Given the description of an element on the screen output the (x, y) to click on. 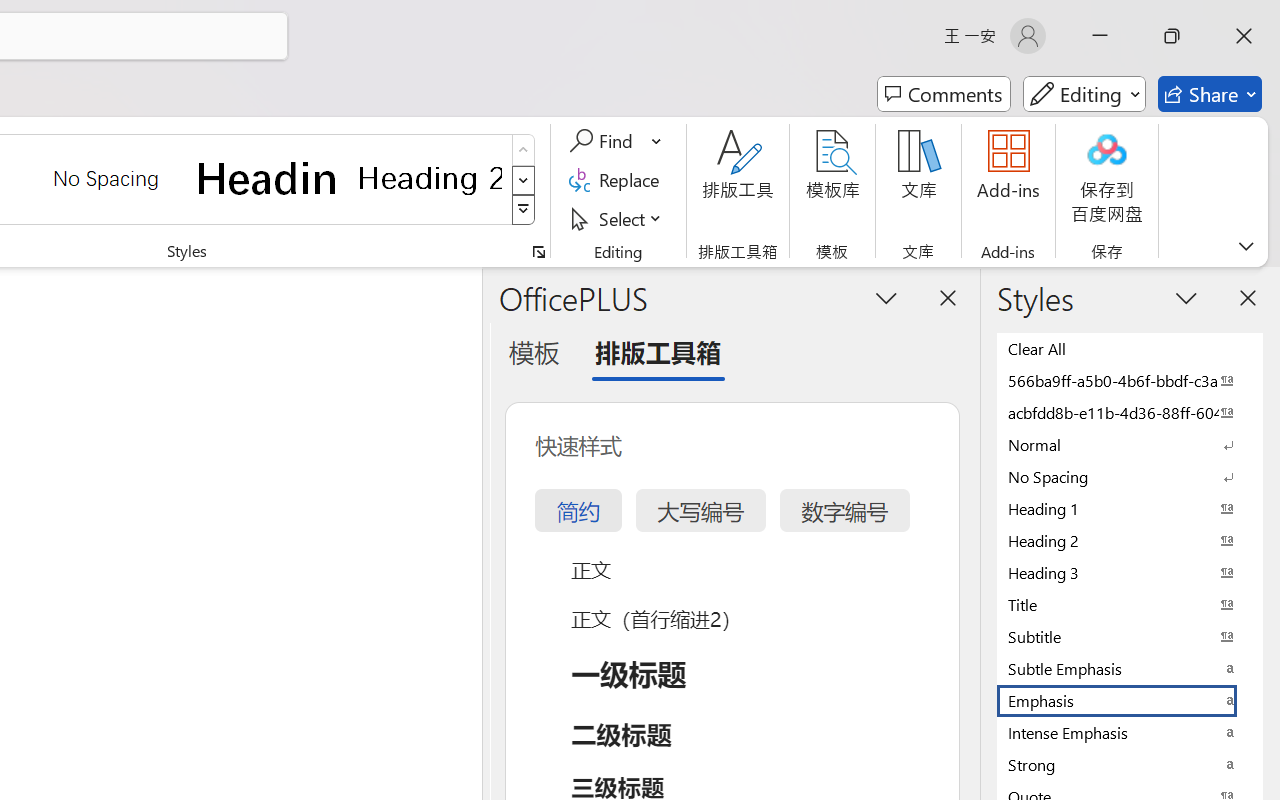
Row up (523, 150)
Class: NetUIImage (523, 210)
